Given the description of an element on the screen output the (x, y) to click on. 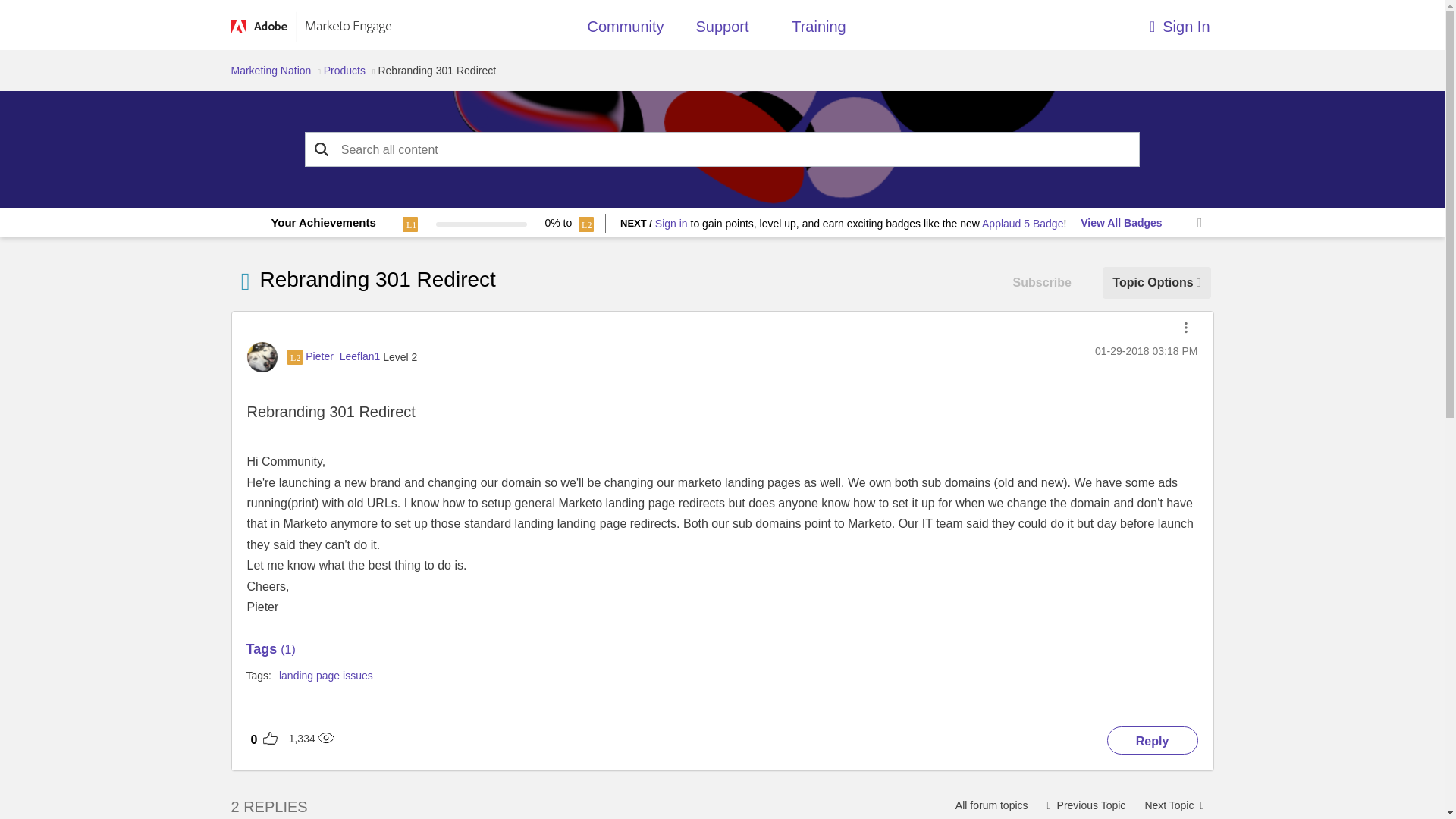
Forum (244, 280)
Insert a query. Press enter to send (722, 149)
Product Discussions (991, 804)
Products (344, 70)
View All Badges (1120, 223)
Applaud 5 Badge (1021, 223)
Topic Options (1155, 282)
Show option menu (1155, 282)
Reply (1152, 740)
Community (624, 30)
All forum topics (991, 804)
Posted on (1145, 351)
Next Topic (1173, 804)
Sign In (1090, 22)
Support (721, 30)
